Given the description of an element on the screen output the (x, y) to click on. 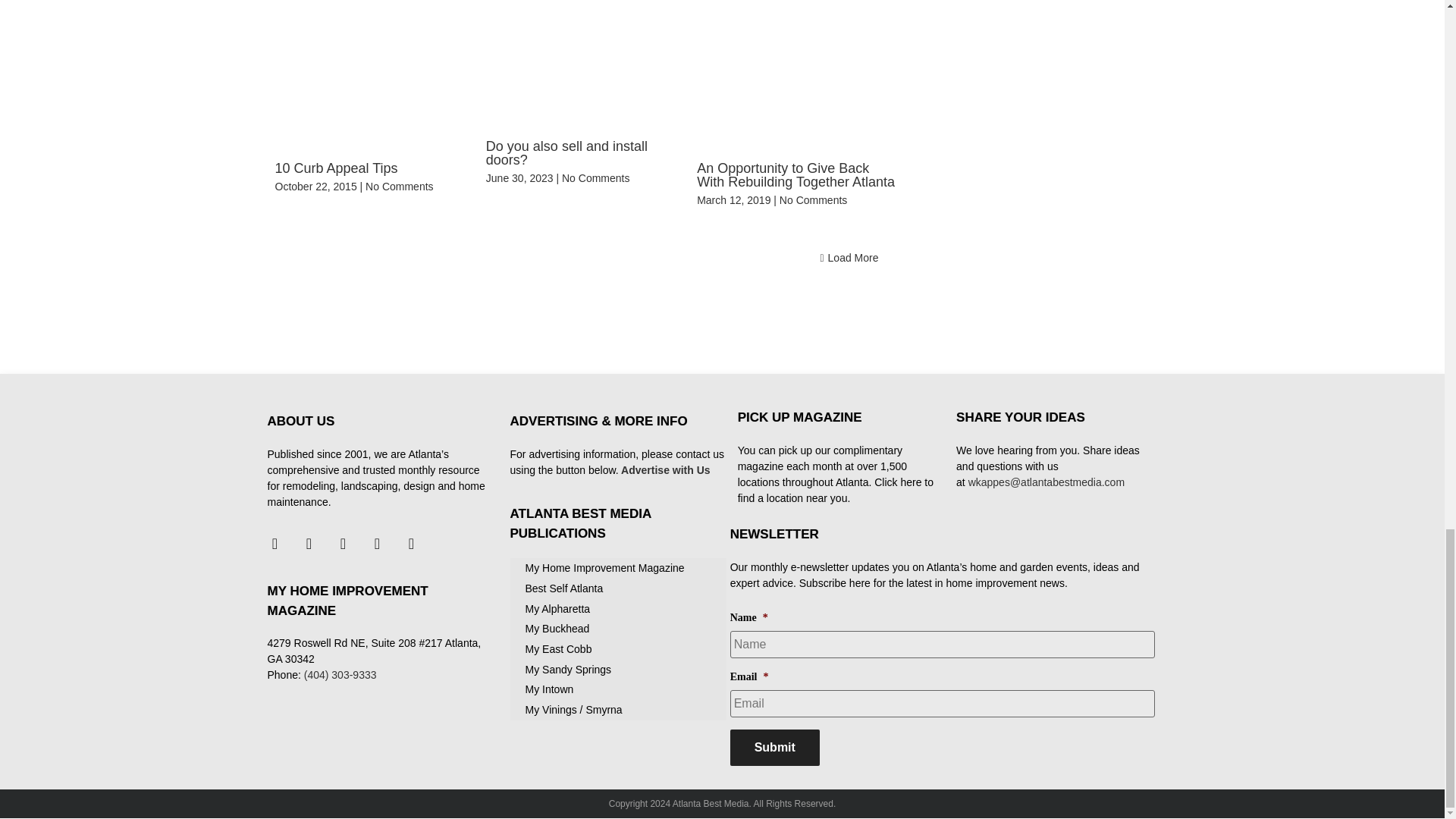
Submit (774, 747)
